Given the description of an element on the screen output the (x, y) to click on. 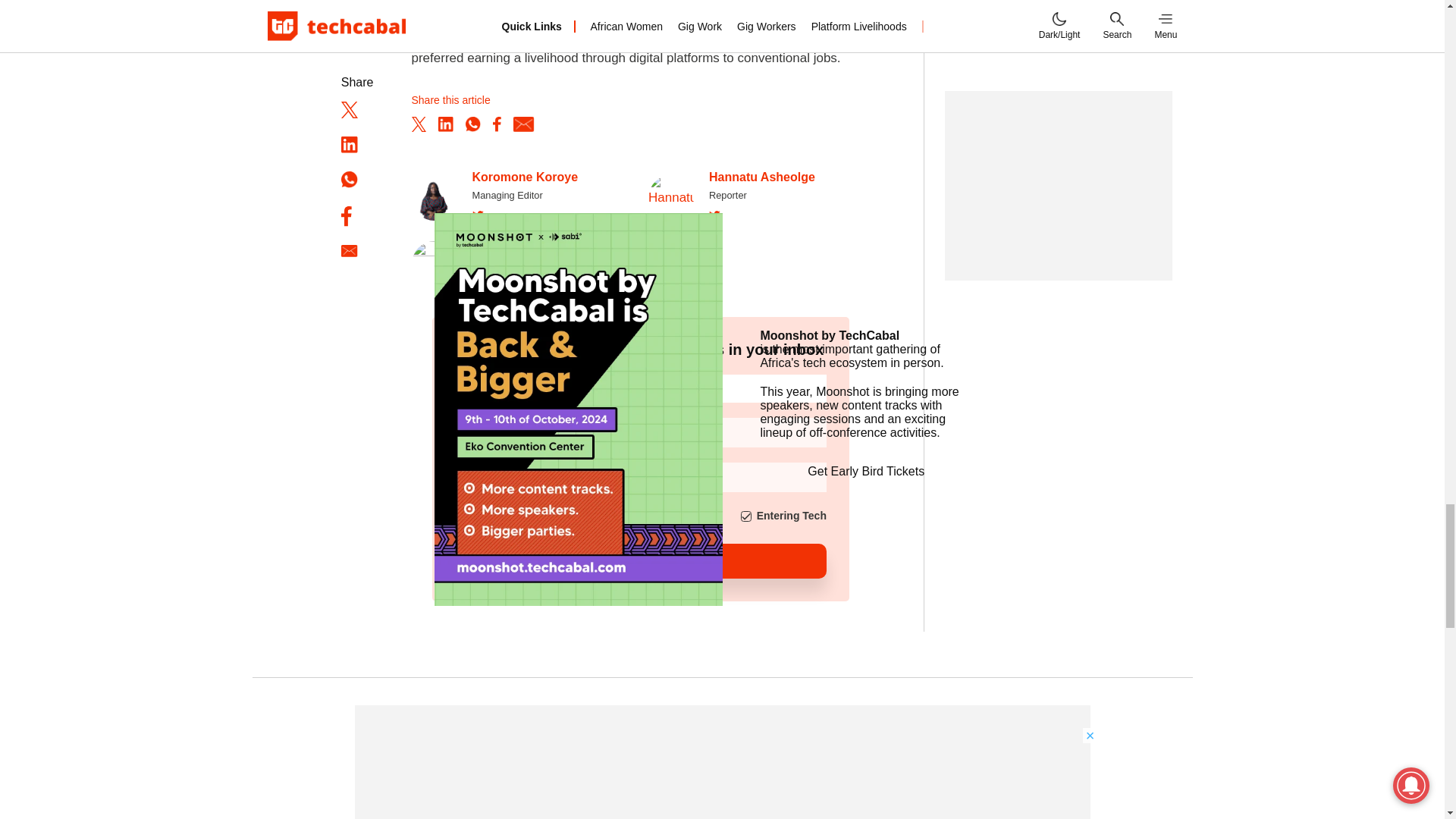
3rd party ad content (1058, 53)
